Given the description of an element on the screen output the (x, y) to click on. 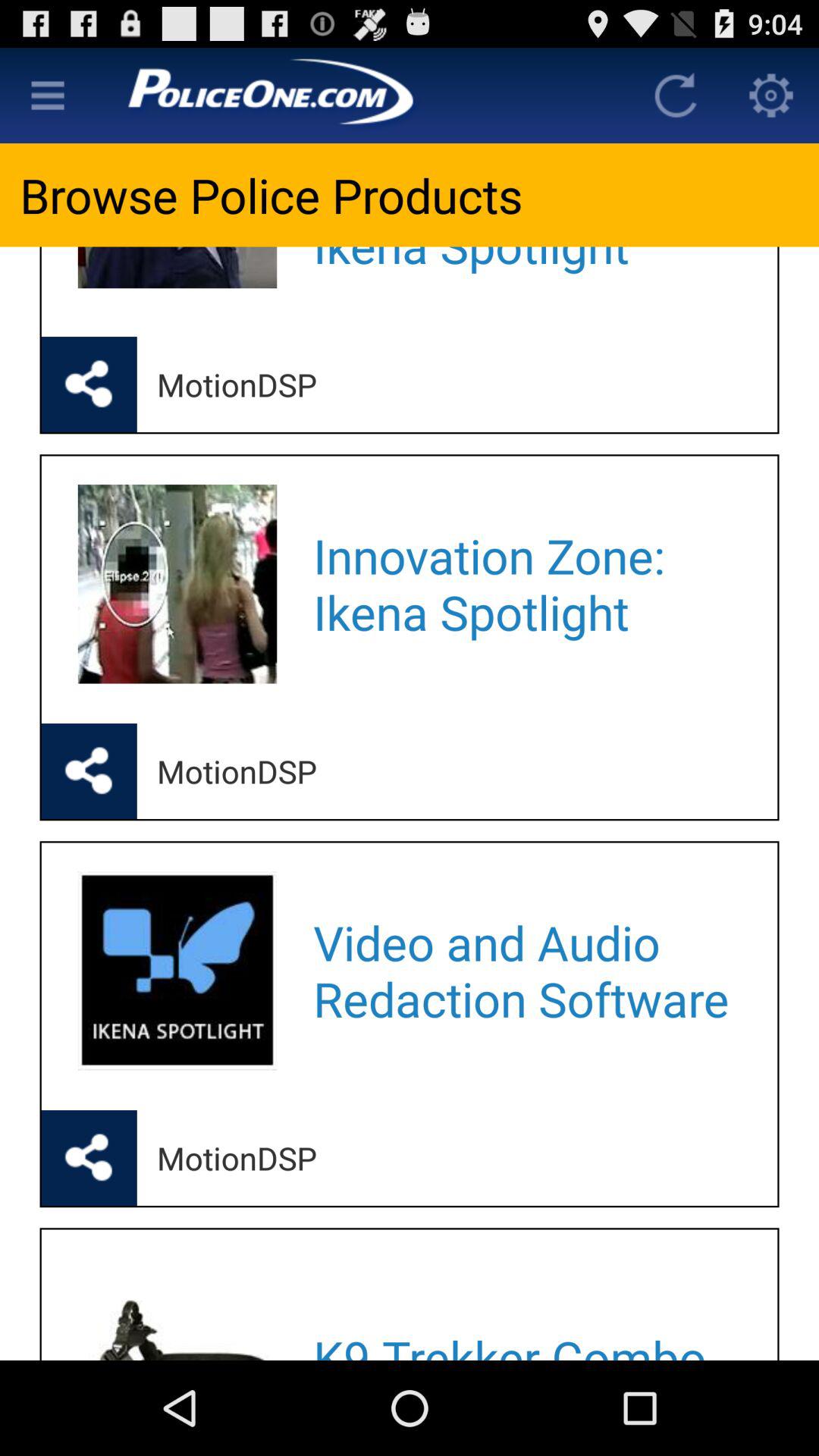
see list (47, 95)
